Given the description of an element on the screen output the (x, y) to click on. 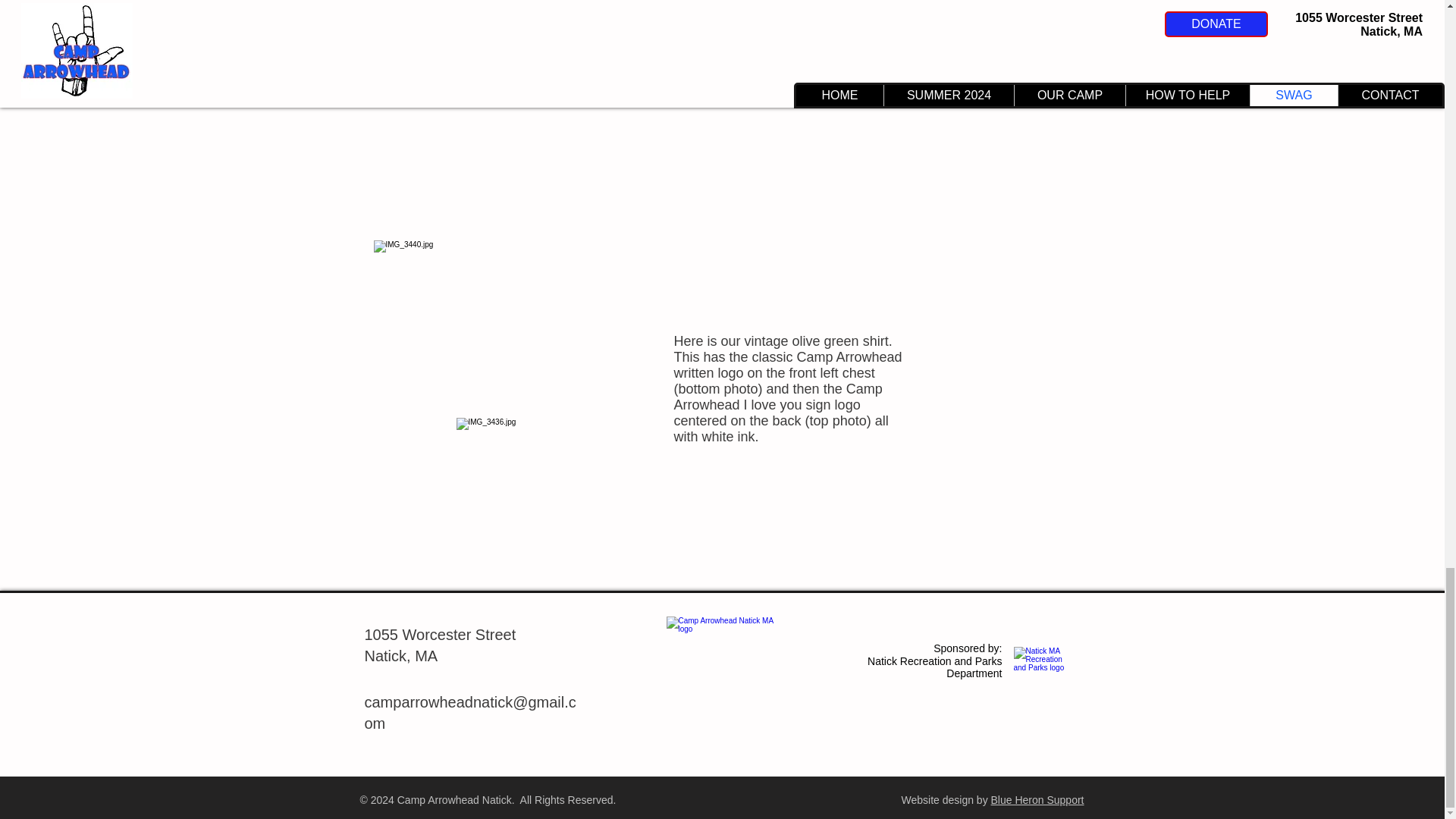
Camp Arrowhead (721, 663)
Blue Heron Support (1037, 799)
Natick Rec (1041, 668)
